Given the description of an element on the screen output the (x, y) to click on. 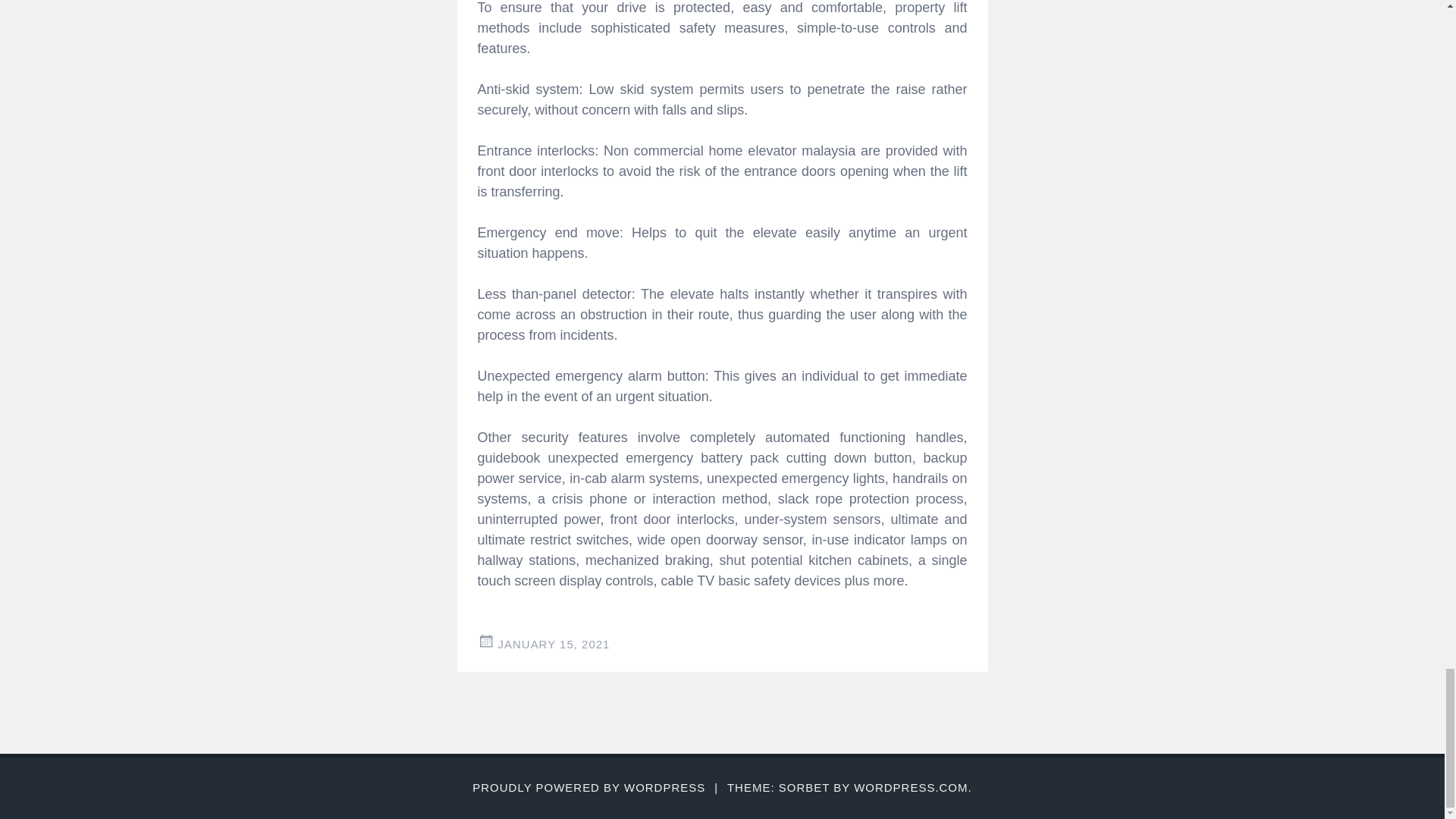
WORDPRESS.COM (910, 787)
JANUARY 15, 2021 (553, 644)
PROUDLY POWERED BY WORDPRESS (587, 787)
5:00 pm (553, 644)
